Given the description of an element on the screen output the (x, y) to click on. 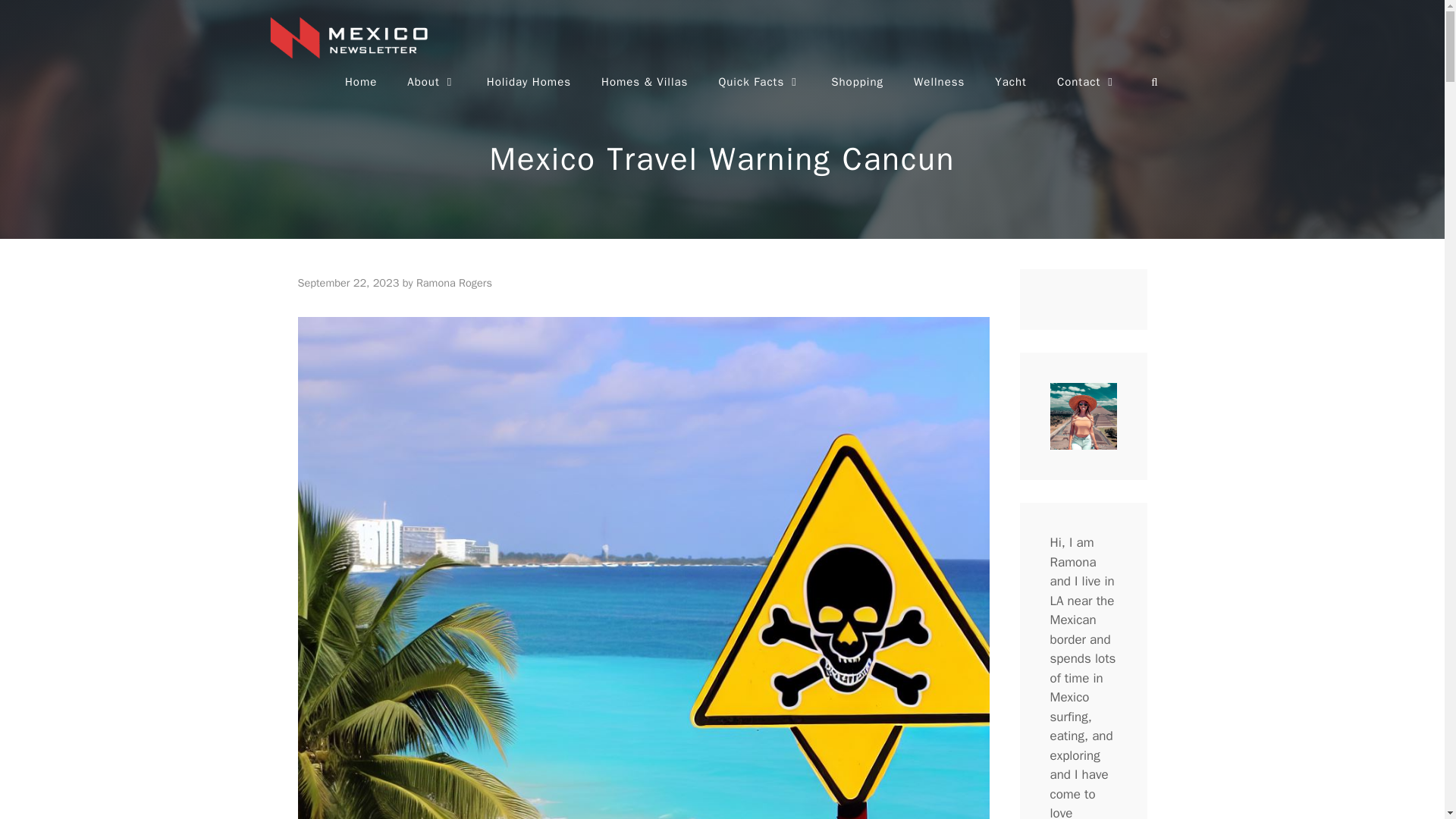
Shopping (856, 81)
Contact (1087, 81)
Home (360, 81)
Yacht (1010, 81)
Holiday Homes (528, 81)
Quick Facts (759, 81)
View all posts by Ramona Rogers (454, 282)
